Given the description of an element on the screen output the (x, y) to click on. 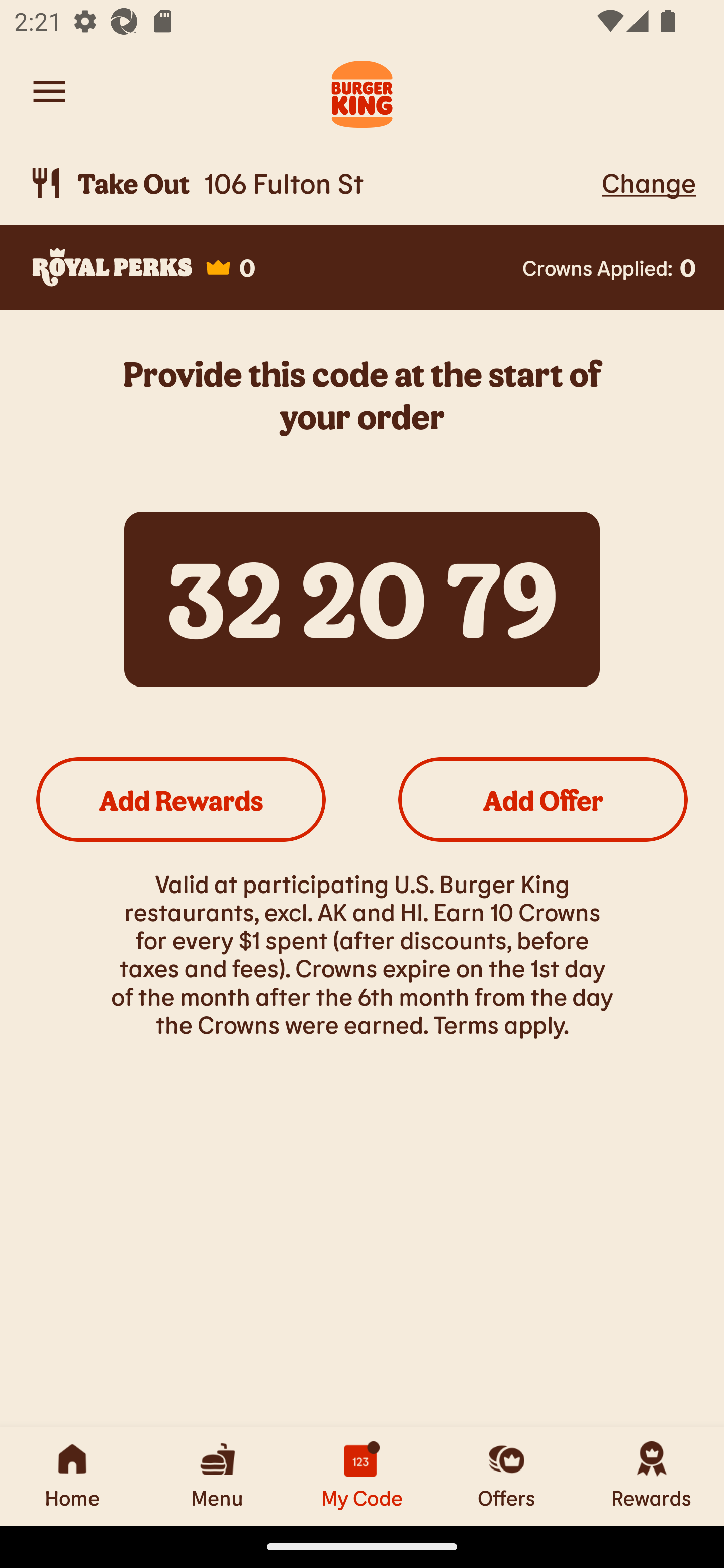
Burger King Logo. Navigate to Home (362, 91)
Navigate to account menu  (49, 91)
Take Out, 106 Fulton St  Take Out 106 Fulton St (311, 183)
Change (648, 182)
Add Rewards (180, 799)
Add Offer (542, 799)
Home (72, 1475)
Menu (216, 1475)
My Code (361, 1475)
Offers (506, 1475)
Rewards (651, 1475)
